Given the description of an element on the screen output the (x, y) to click on. 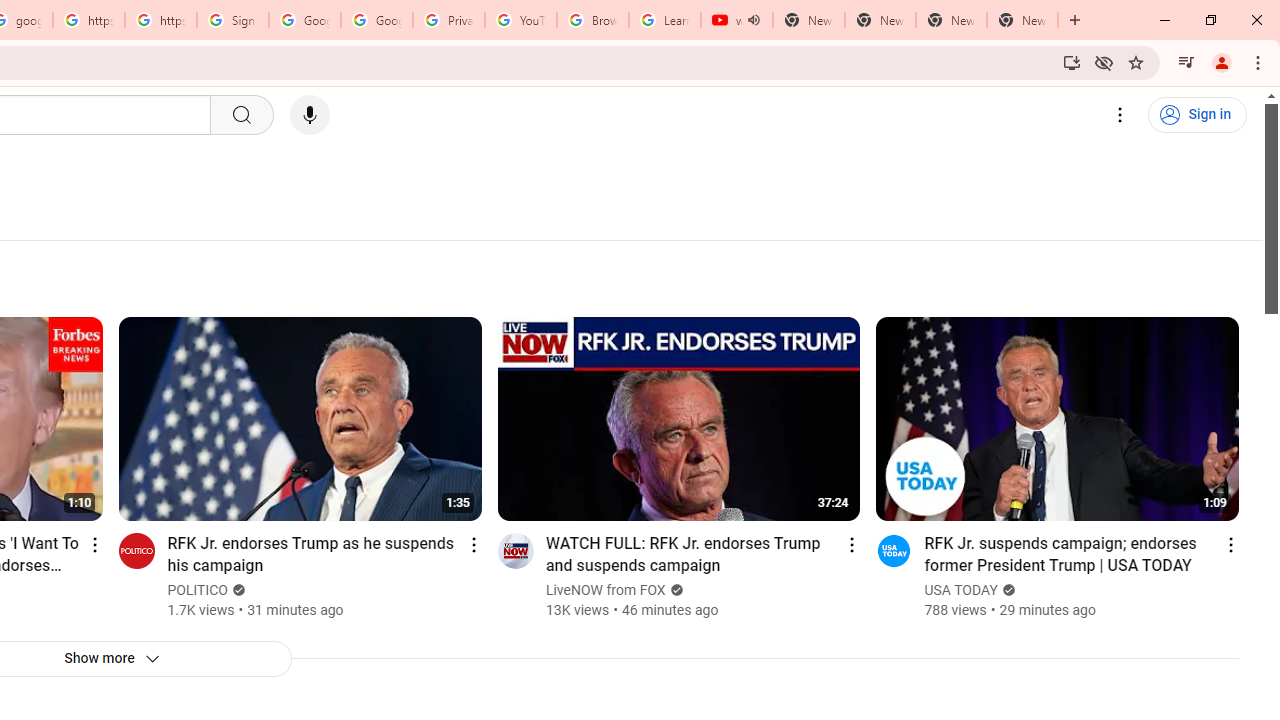
Mute tab (753, 20)
Browse Chrome as a guest - Computer - Google Chrome Help (592, 20)
https://scholar.google.com/ (88, 20)
Settings (1119, 115)
Search (240, 115)
LiveNOW from FOX (606, 590)
Verified (1006, 590)
Search with your voice (309, 115)
USA TODAY (961, 590)
Install YouTube (1071, 62)
